Given the description of an element on the screen output the (x, y) to click on. 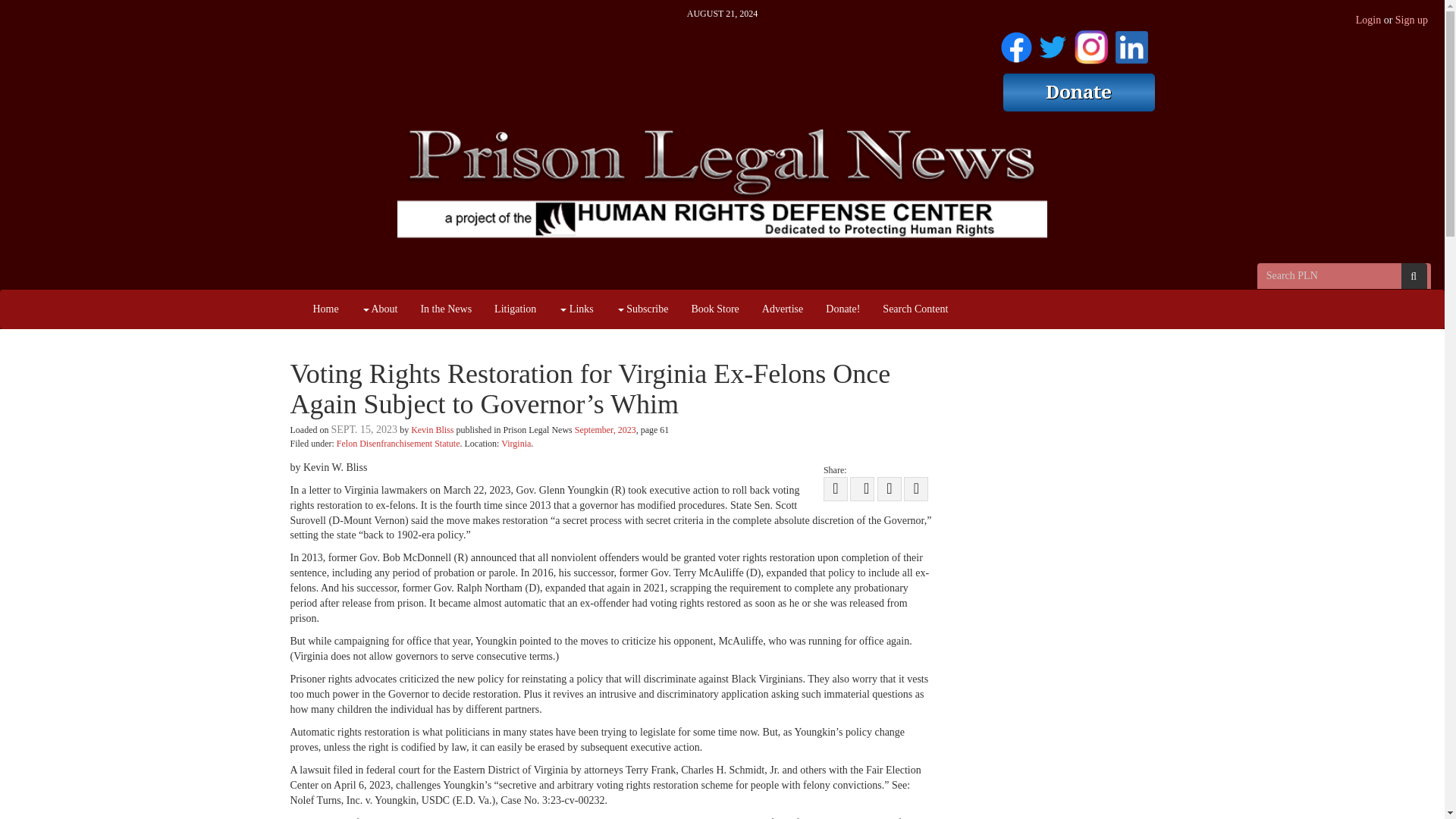
Virginia (515, 443)
Paul Wright's LinkedIn Page (1131, 44)
Donate! (841, 309)
Login (1367, 19)
HRDC Instagram Page (1091, 44)
Felon Disenfranchisement Statute (398, 443)
Subscribe (642, 309)
About (379, 309)
Links (575, 309)
Advertise (782, 309)
